Given the description of an element on the screen output the (x, y) to click on. 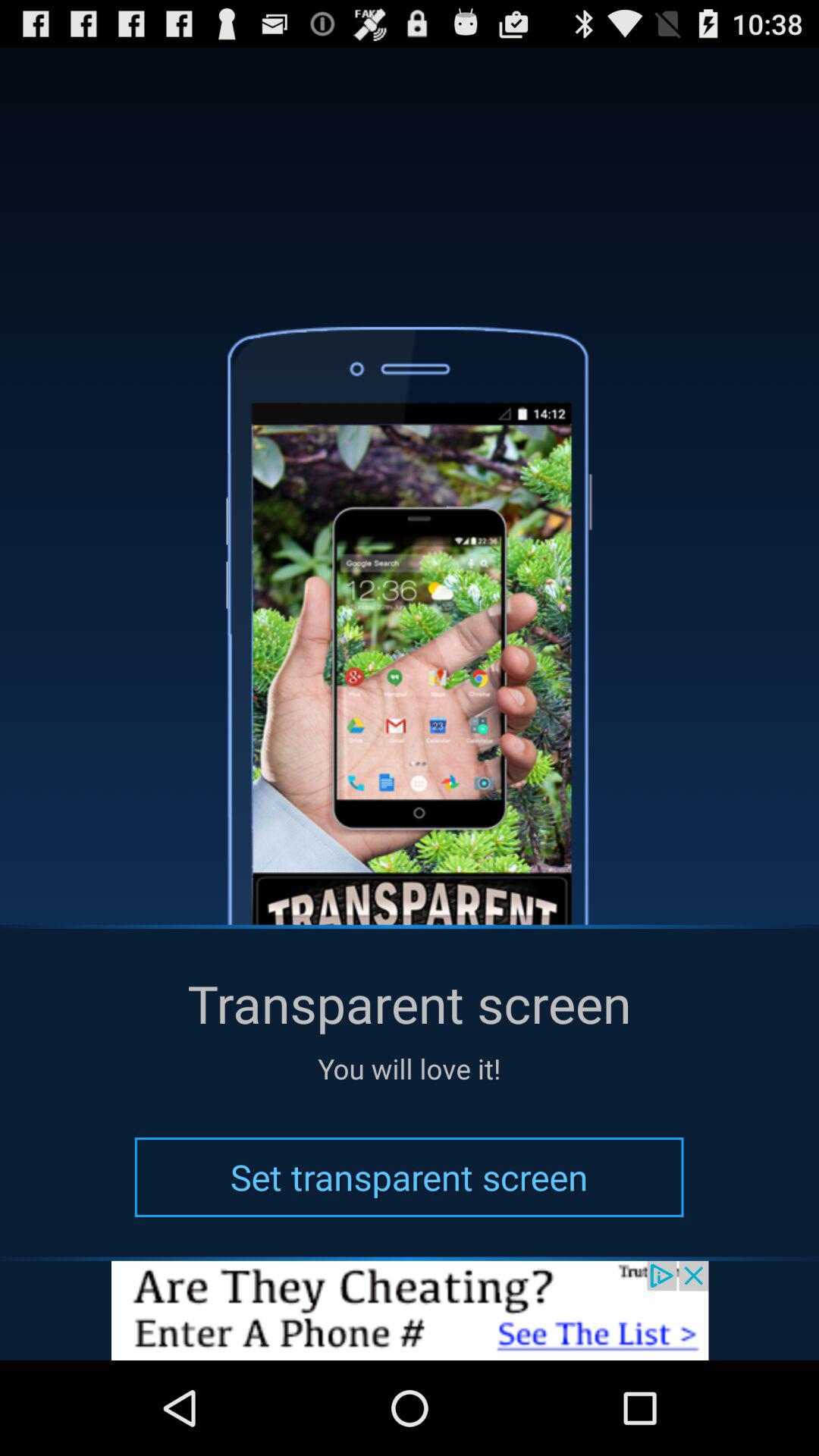
transperent screen shot (409, 1310)
